Given the description of an element on the screen output the (x, y) to click on. 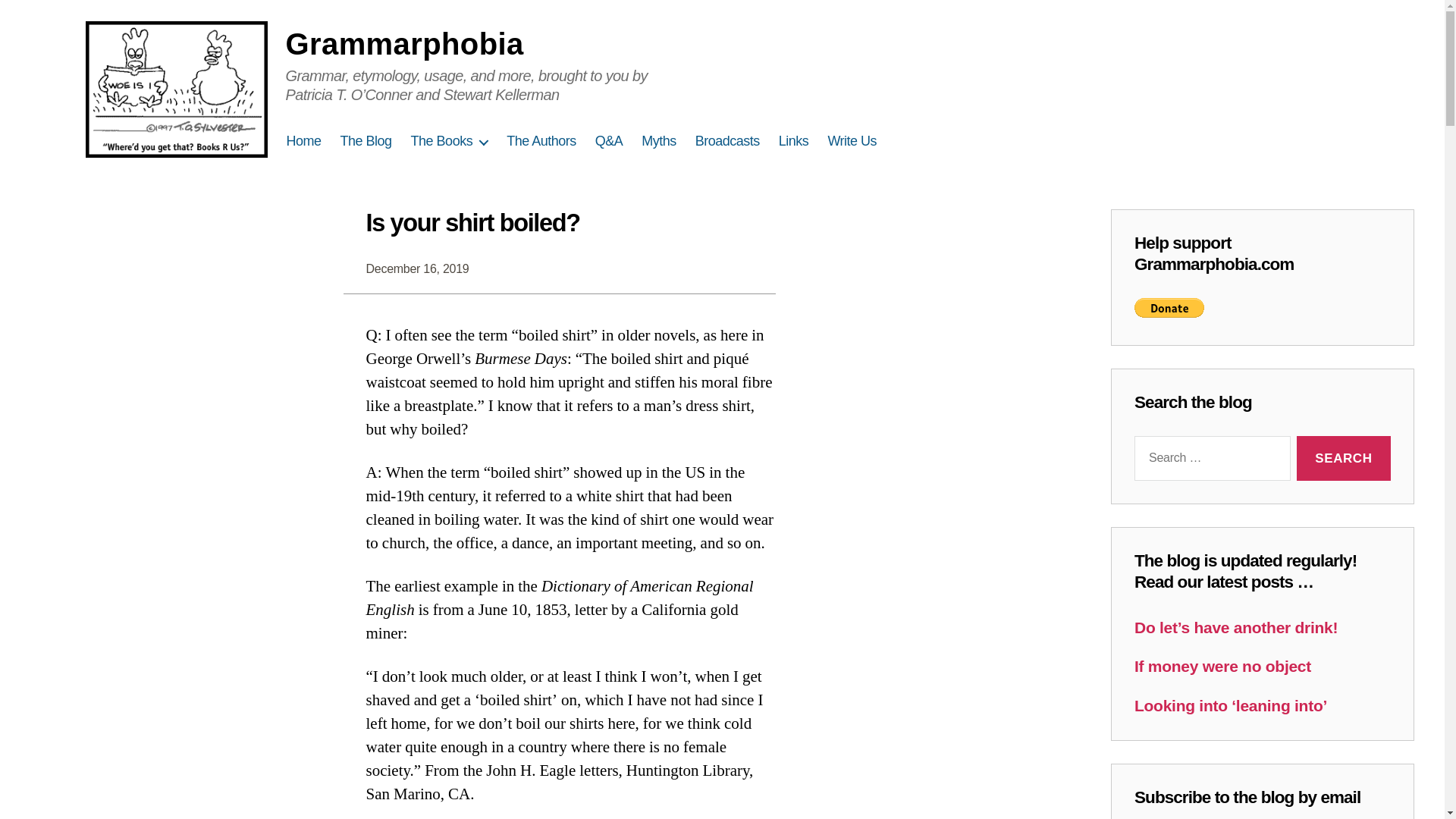
Grammarphobia (403, 43)
Myths (659, 141)
Write Us (851, 141)
Broadcasts (727, 141)
Home (303, 141)
Search (1343, 457)
The Authors (541, 141)
The Blog (365, 141)
The Books (448, 141)
Links (793, 141)
